Given the description of an element on the screen output the (x, y) to click on. 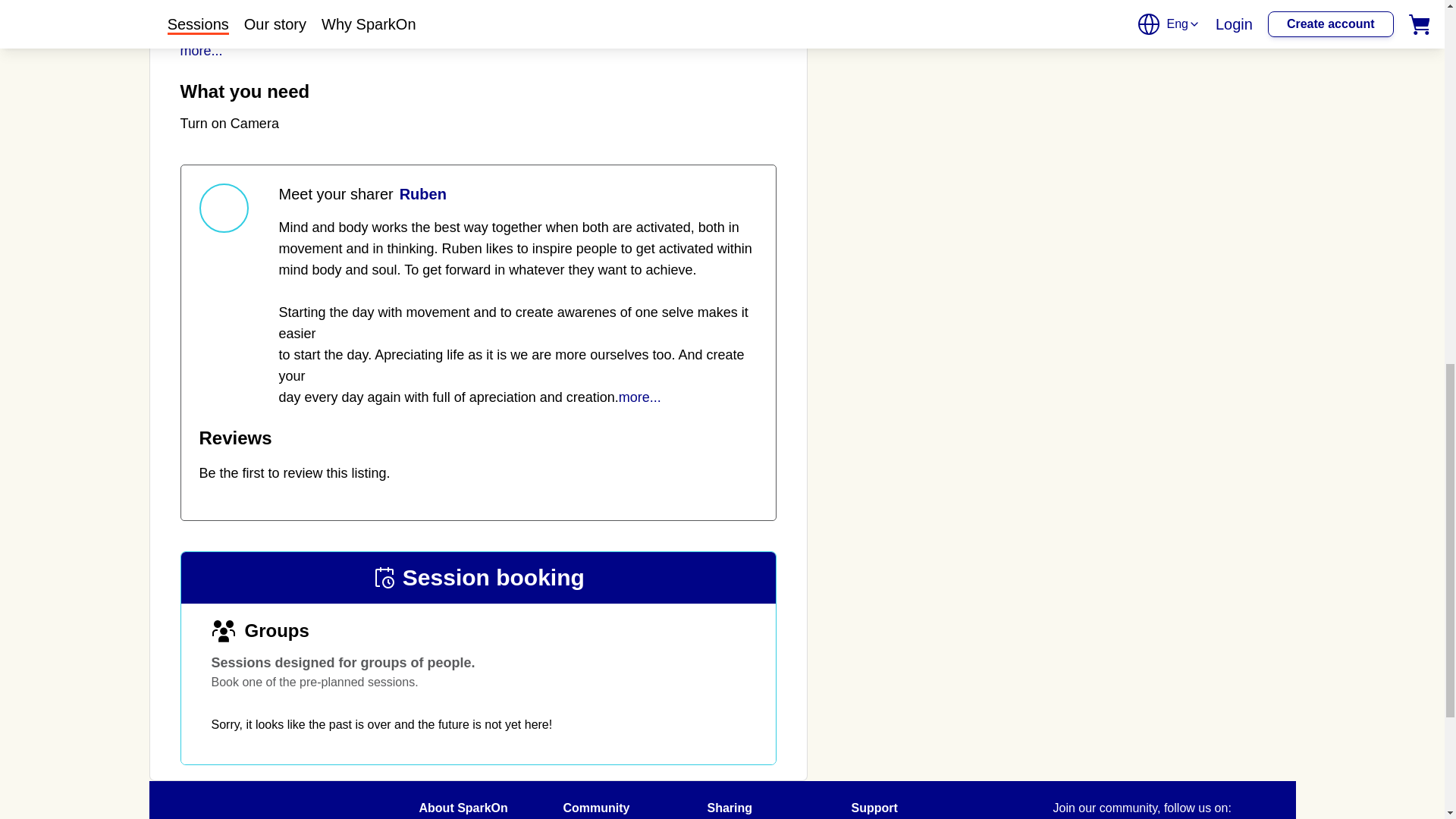
more... (201, 50)
Ruben (419, 193)
more... (639, 396)
